Given the description of an element on the screen output the (x, y) to click on. 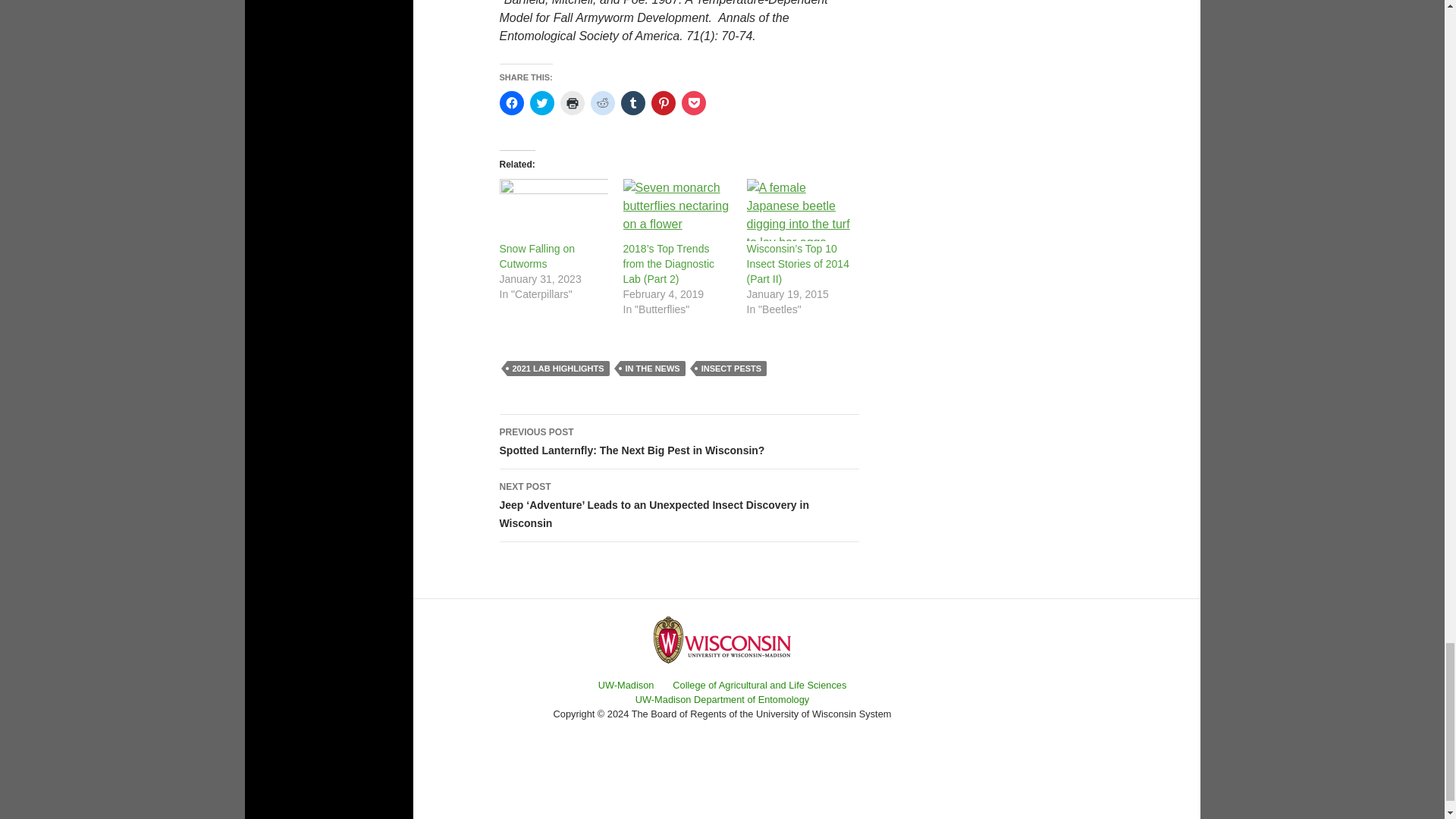
Click to share on Twitter (541, 102)
Snow Falling on Cutworms (553, 209)
Click to print (571, 102)
Click to share on Reddit (601, 102)
Click to share on Facebook (510, 102)
Snow Falling on Cutworms (537, 256)
Click to share on Pinterest (662, 102)
Click to share on Pocket (692, 102)
Click to share on Tumblr (632, 102)
